Given the description of an element on the screen output the (x, y) to click on. 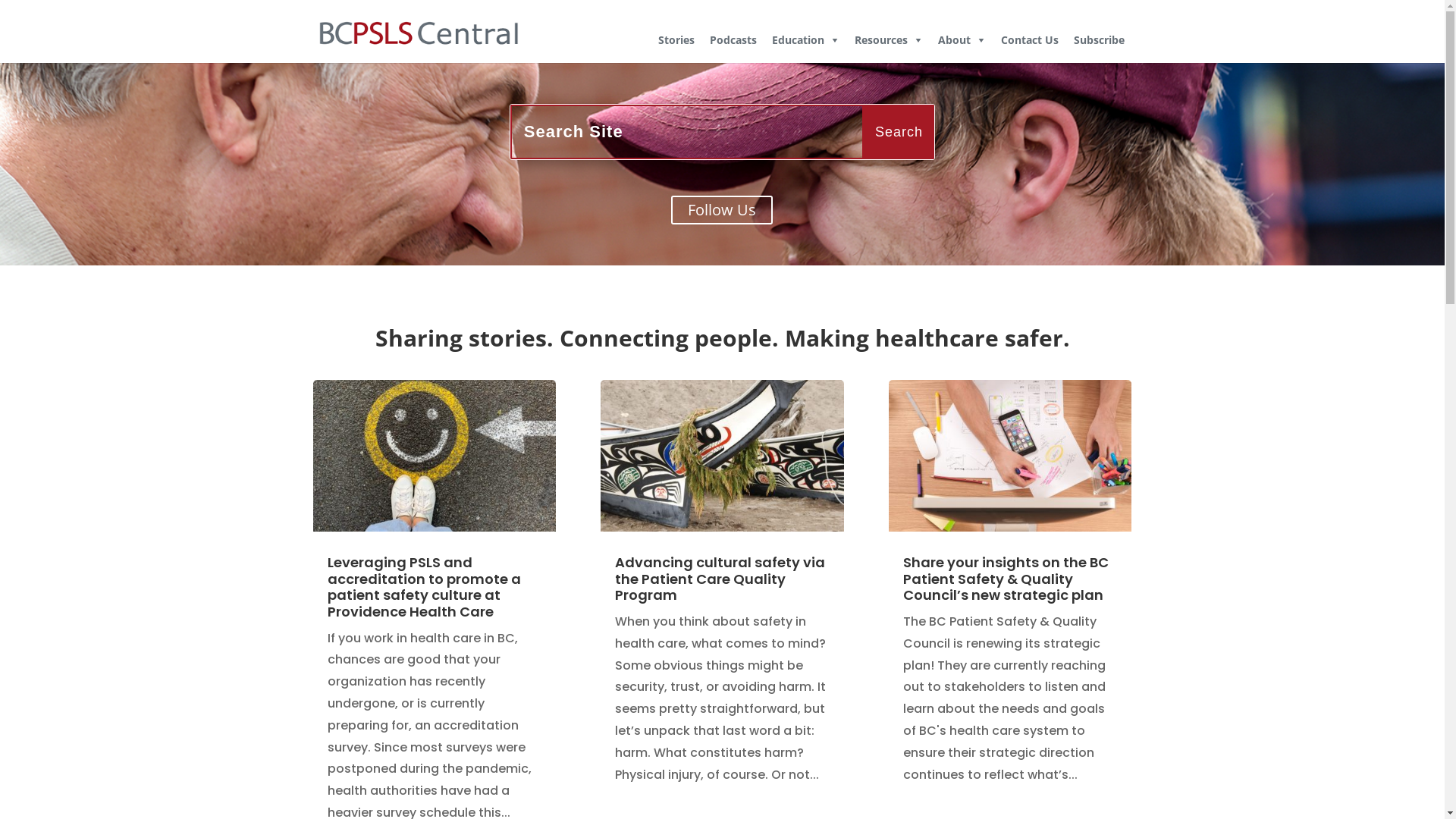
About Element type: text (960, 43)
Podcasts Element type: text (733, 43)
Resources Element type: text (887, 43)
Stories Element type: text (676, 43)
Search Element type: text (898, 131)
Education Element type: text (805, 43)
Subscribe Element type: text (1099, 43)
Follow Us Element type: text (721, 209)
Contact Us Element type: text (1029, 43)
